Given the description of an element on the screen output the (x, y) to click on. 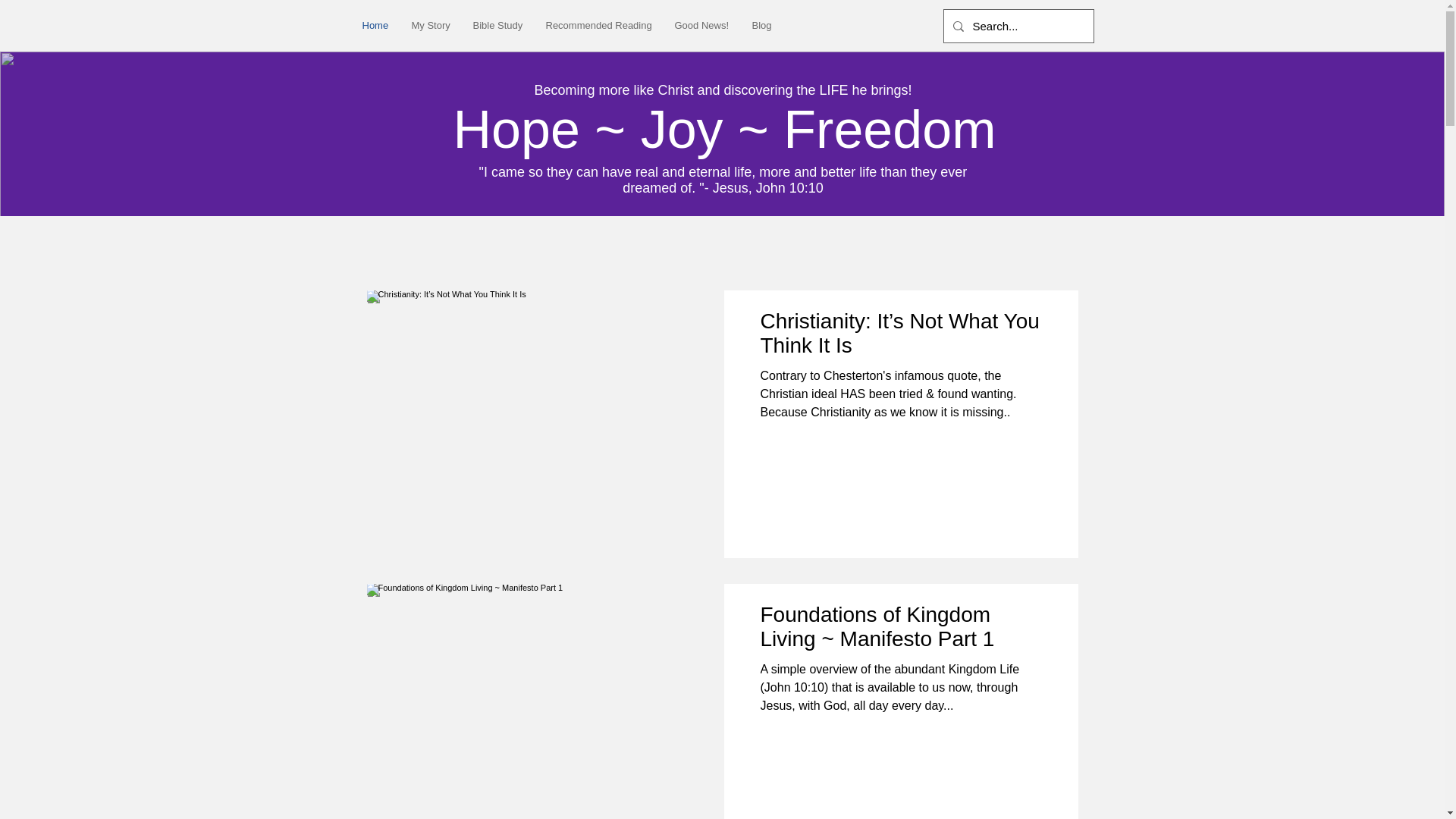
Recommended Reading (598, 25)
Home (374, 25)
My Story (430, 25)
Good News! (700, 25)
Blog (761, 25)
Bible Study (497, 25)
